Given the description of an element on the screen output the (x, y) to click on. 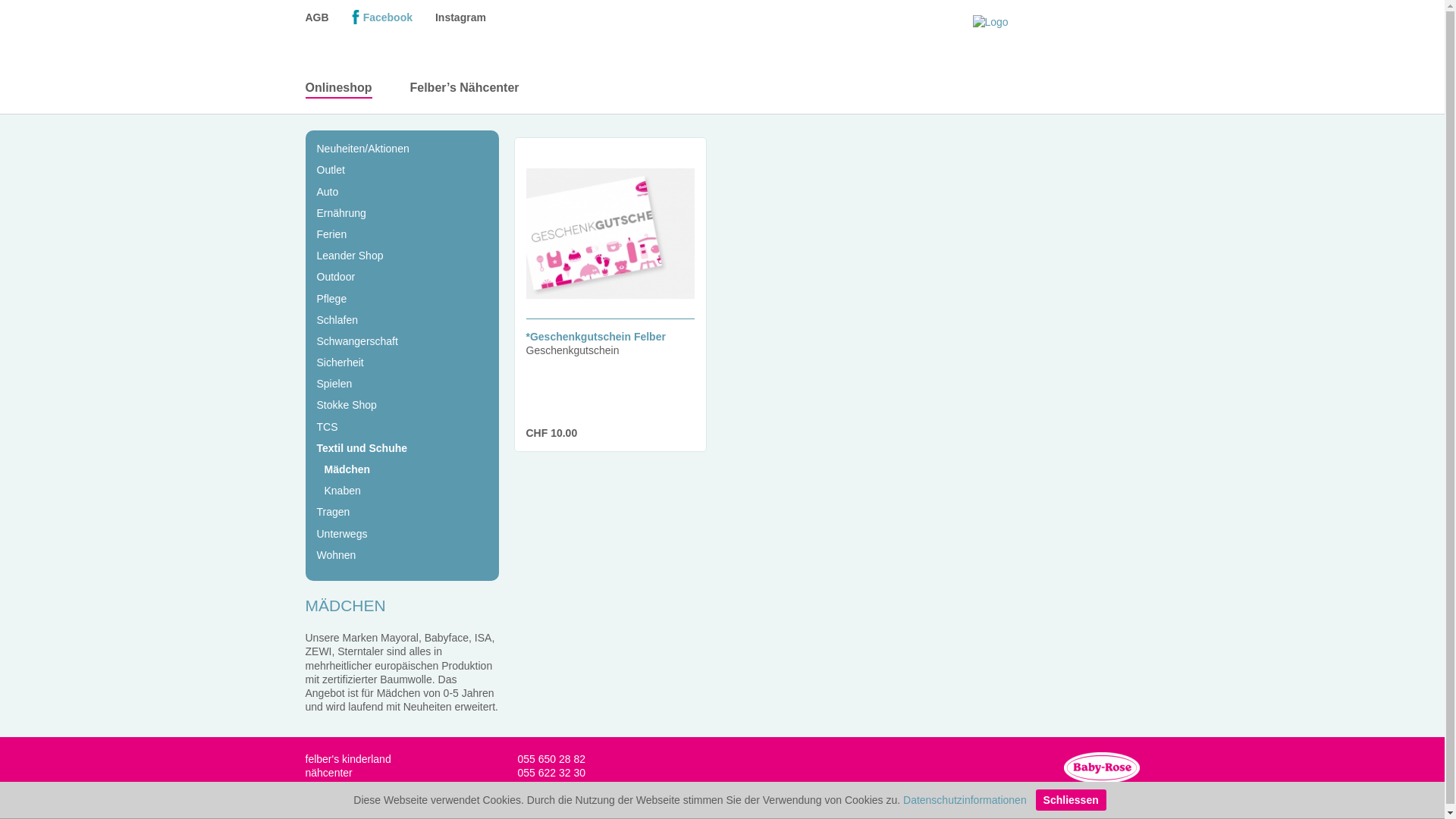
Spielen Element type: text (334, 383)
Auto Element type: text (327, 191)
Schlafen Element type: text (336, 319)
Datenschutzinformationen Element type: text (964, 799)
Neuheiten/Aktionen Element type: text (362, 148)
nfnhnch Element type: text (555, 787)
Textil und Schuhe Element type: text (361, 448)
*Geschenkgutschein Felber
Geschenkgutschein
CHF 10.00 Element type: text (618, 290)
Baby-Rose Genossenschaft Element type: hover (1101, 772)
Pflege Element type: text (331, 298)
Onlineshop Element type: text (337, 88)
Leander Shop Element type: text (349, 255)
Unterwegs Element type: text (341, 533)
Outdoor Element type: text (335, 276)
Sicherheit Element type: text (340, 362)
Instagram Element type: text (460, 17)
Schwangerschaft Element type: text (357, 341)
Ferien Element type: text (331, 234)
Wohnen Element type: text (336, 555)
Outlet Element type: text (330, 169)
AGB Element type: text (316, 17)
Stokke Shop Element type: text (346, 404)
Knaben Element type: text (342, 490)
Schliessen Element type: text (1070, 799)
*Geschenkgutschein Felber Element type: text (595, 336)
Facebook Element type: text (381, 17)
Zur Startseite Element type: hover (1055, 55)
Tragen Element type: text (333, 511)
TCS Element type: text (327, 426)
